Given the description of an element on the screen output the (x, y) to click on. 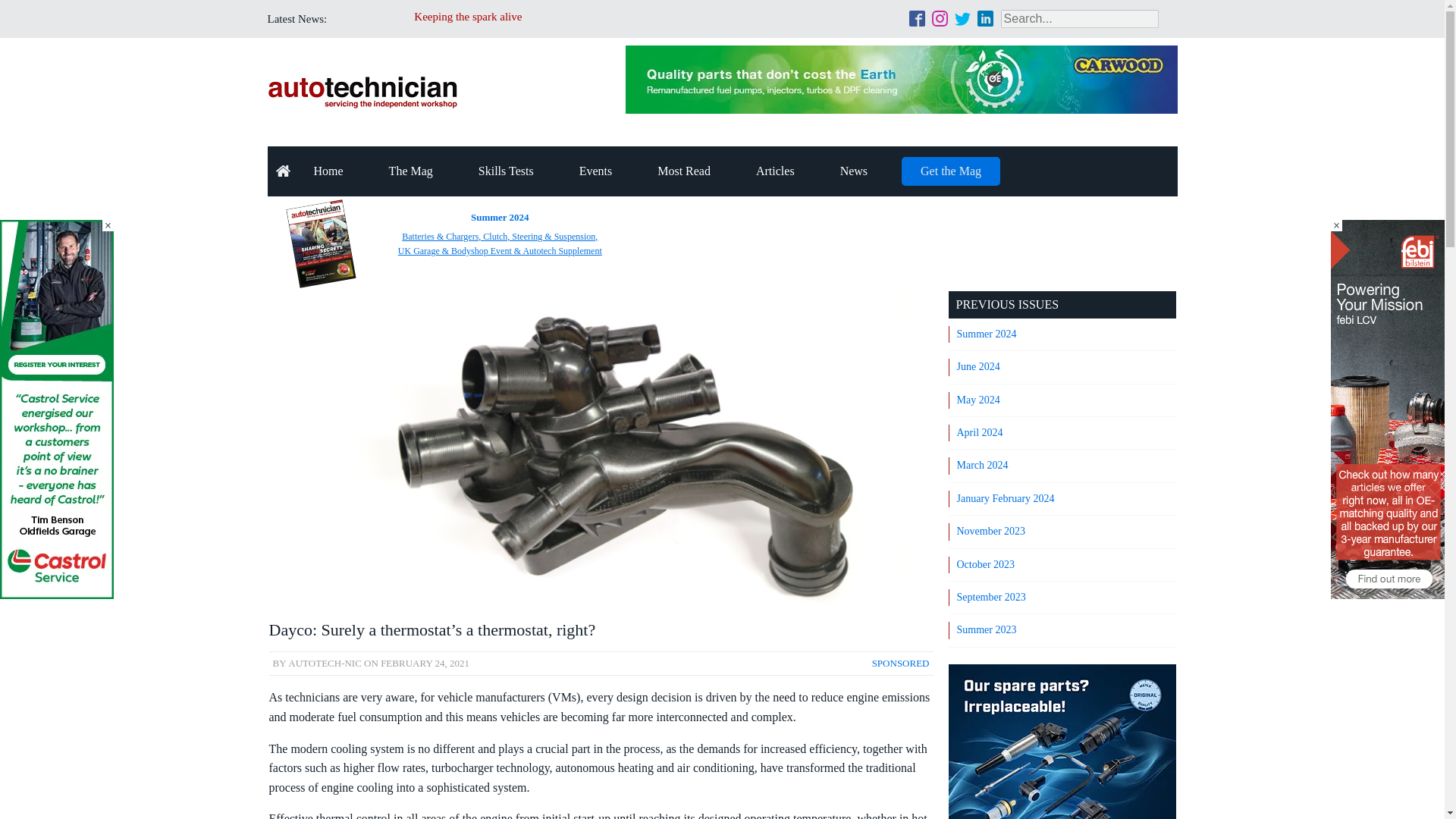
News (852, 171)
Go (13, 9)
SPONSORED (901, 663)
Skills Tests (505, 171)
Most Read (683, 171)
Get the Mag (950, 171)
The Mag (410, 171)
Events (595, 171)
close (1336, 225)
close (107, 225)
